Given the description of an element on the screen output the (x, y) to click on. 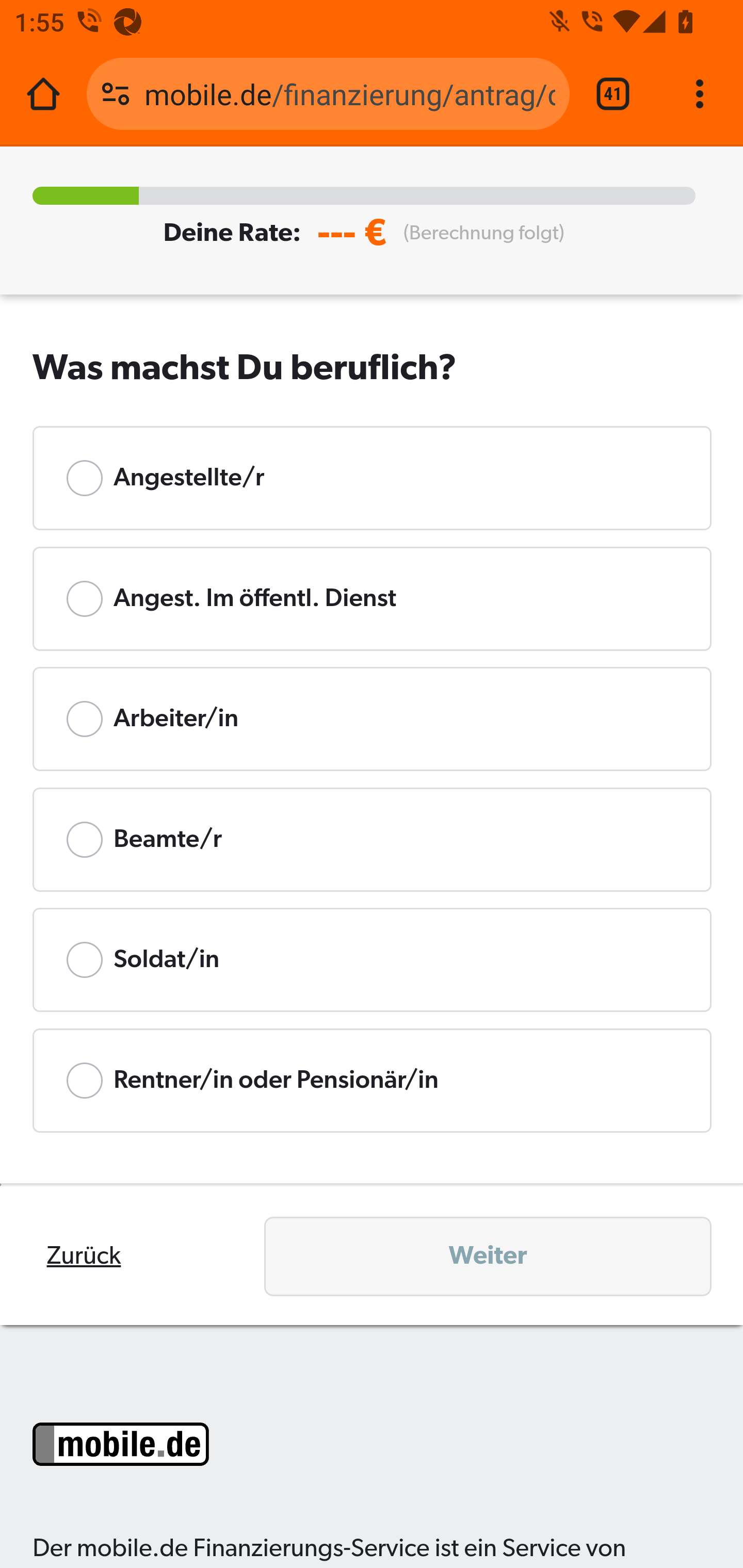
Open the home page (43, 93)
Connection is secure (115, 93)
Switch or close tabs (612, 93)
Customize and control Google Chrome (699, 93)
Weiter (488, 1256)
Zurück (83, 1256)
